Given the description of an element on the screen output the (x, y) to click on. 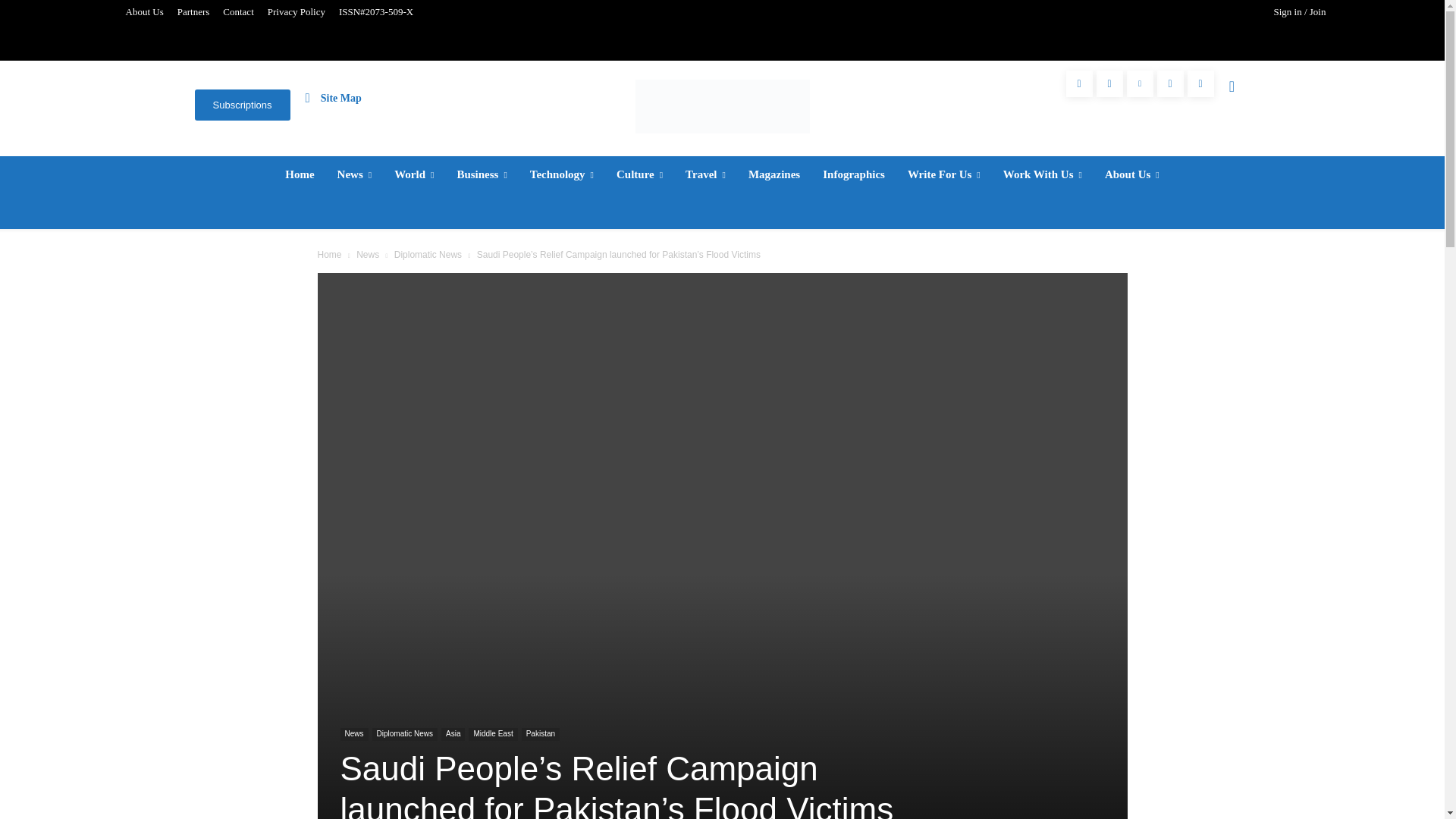
Facebook (1079, 82)
Youtube (1201, 82)
Subscriptions (241, 104)
Instagram (1109, 82)
View all posts in Diplomatic News (427, 254)
Linkedin (1139, 82)
Site Map (333, 97)
Twitter (1170, 82)
View all posts in News (367, 254)
